Given the description of an element on the screen output the (x, y) to click on. 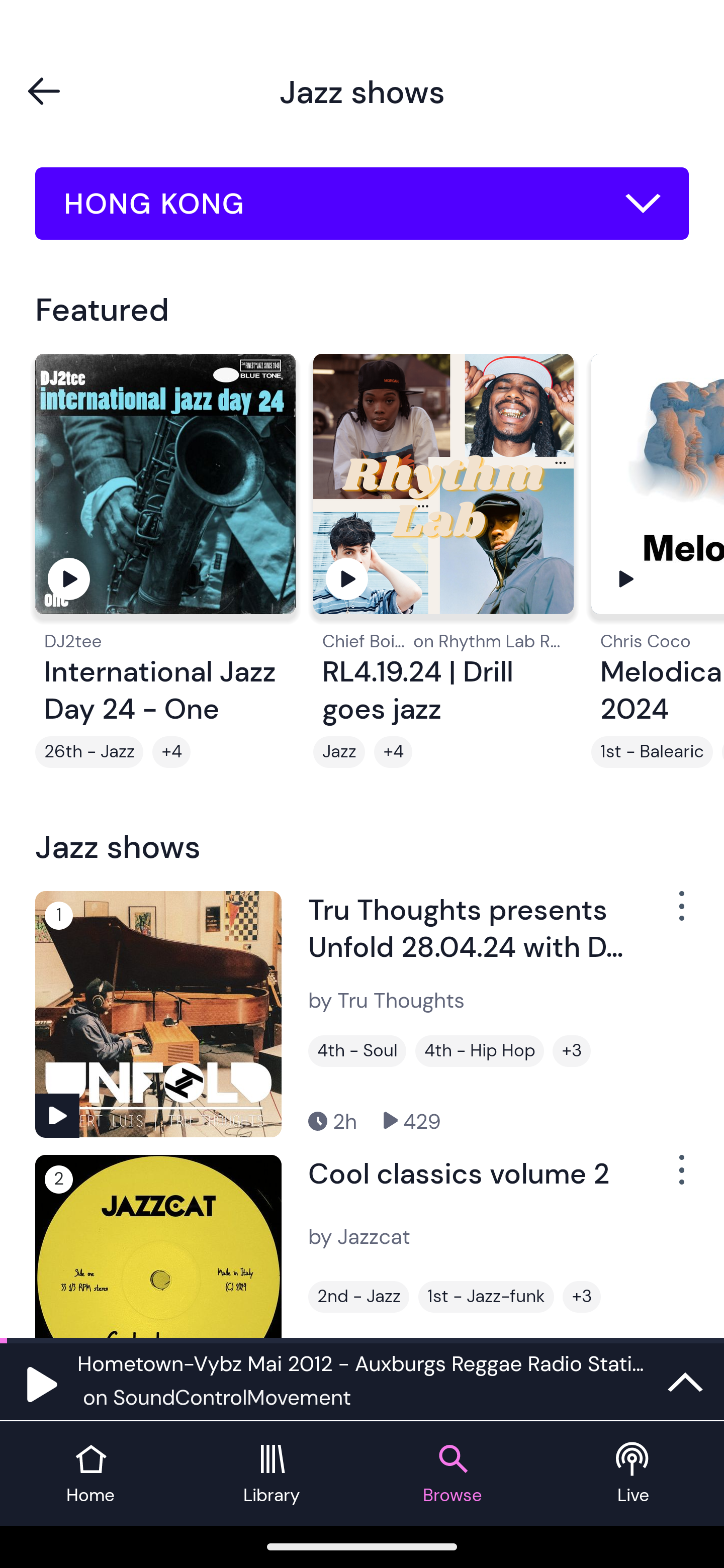
HONG KONG (361, 203)
26th - Jazz (89, 752)
Jazz (338, 752)
1st - Balearic (652, 752)
Show Options Menu Button (679, 913)
4th - Soul (357, 1050)
4th - Hip Hop (479, 1050)
Show Options Menu Button (679, 1178)
2nd - Jazz (358, 1296)
1st - Jazz-funk (485, 1296)
Home tab Home (90, 1473)
Library tab Library (271, 1473)
Browse tab Browse (452, 1473)
Live tab Live (633, 1473)
